Given the description of an element on the screen output the (x, y) to click on. 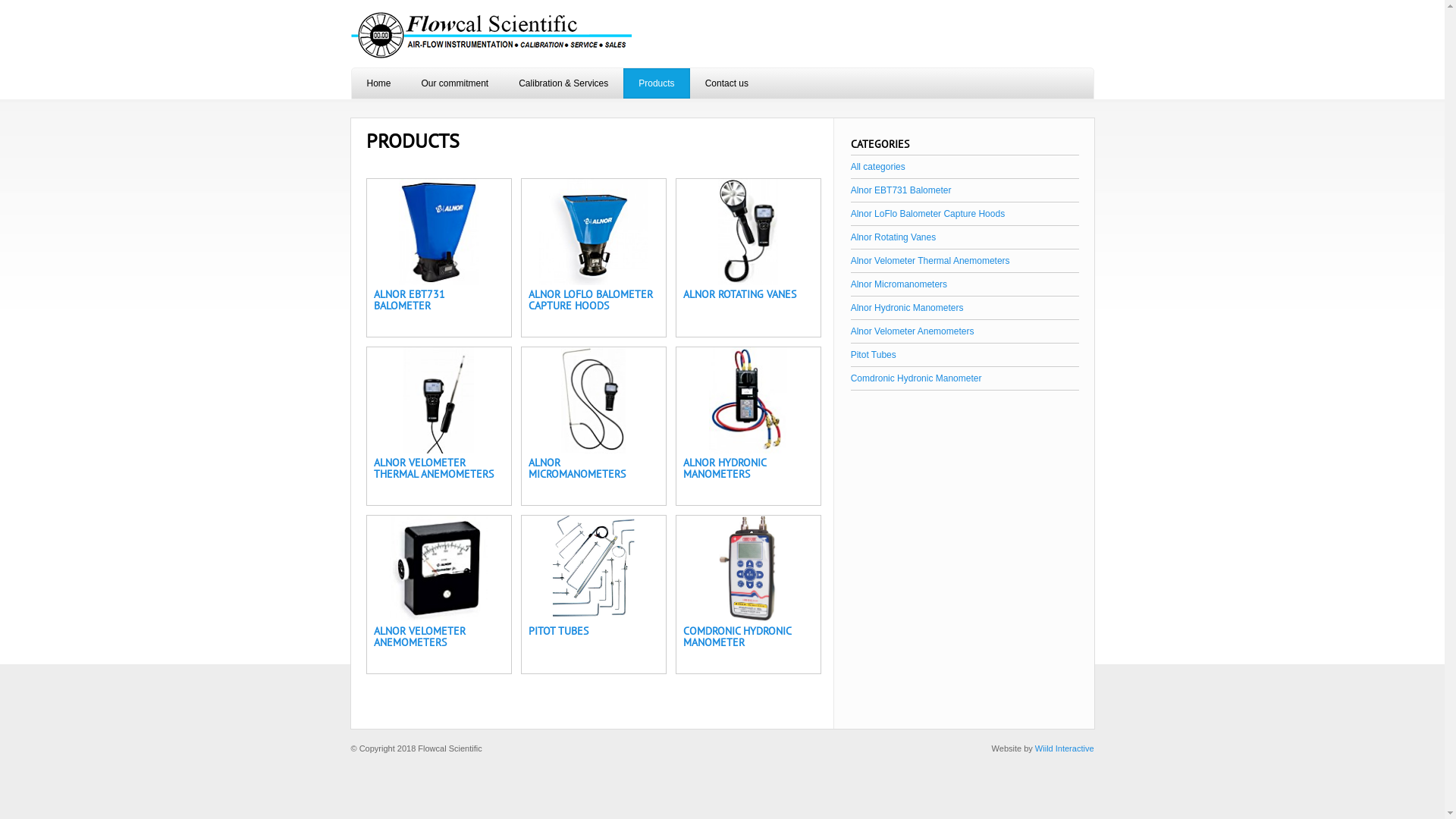
ALNOR EBT731 BALOMETER Element type: text (408, 299)
COMDRONIC HYDRONIC MANOMETER Element type: text (736, 636)
ALNOR VELOMETER THERMAL ANEMOMETERS Element type: text (432, 467)
Products Element type: text (656, 83)
Calibration & Services Element type: text (563, 83)
Alnor LoFlo Balometer Capture Hoods Element type: text (927, 213)
Pitot Tubes Element type: text (873, 354)
Contact us Element type: text (726, 83)
All categories Element type: text (877, 166)
Flowcal Scientific Element type: hover (490, 35)
Alnor EBT731 Balometer Element type: text (900, 190)
Our commitment Element type: text (455, 83)
ALNOR VELOMETER ANEMOMETERS Element type: text (418, 636)
Alnor Micromanometers Element type: text (898, 284)
Alnor Velometer Anemometers Element type: text (912, 331)
ALNOR HYDRONIC MANOMETERS Element type: text (723, 467)
Alnor Rotating Vanes Element type: text (893, 237)
Wiild Interactive Element type: text (1064, 748)
Home Element type: text (378, 83)
ALNOR LOFLO BALOMETER CAPTURE HOODS Element type: text (589, 299)
PITOT TUBES Element type: text (557, 630)
Comdronic Hydronic Manometer Element type: text (916, 378)
Alnor Velometer Thermal Anemometers Element type: text (930, 260)
Alnor Hydronic Manometers Element type: text (906, 307)
ALNOR MICROMANOMETERS Element type: text (575, 467)
ALNOR ROTATING VANES Element type: text (738, 294)
